Given the description of an element on the screen output the (x, y) to click on. 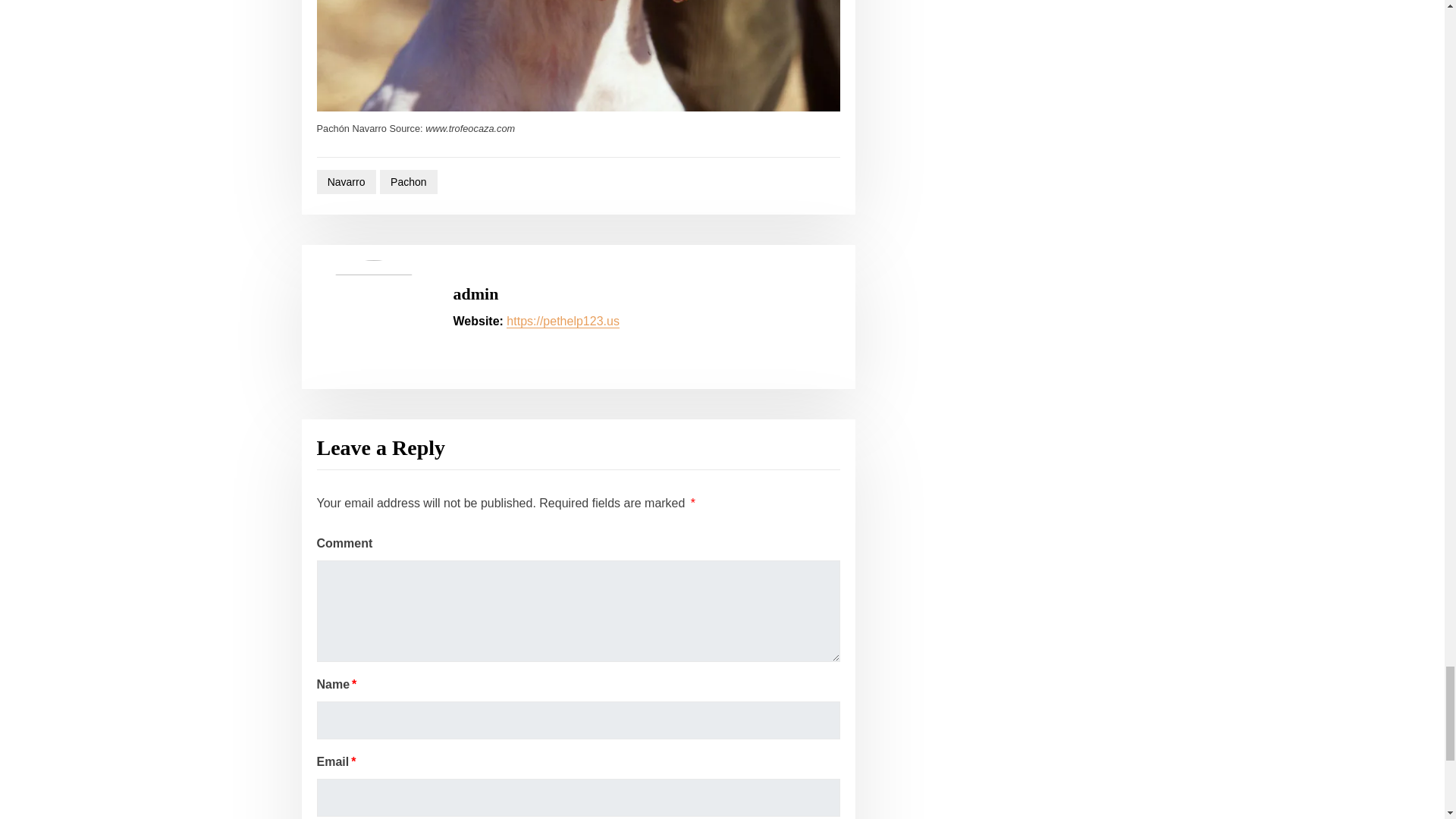
Pachon (409, 181)
admin (475, 293)
Navarro (346, 181)
